Given the description of an element on the screen output the (x, y) to click on. 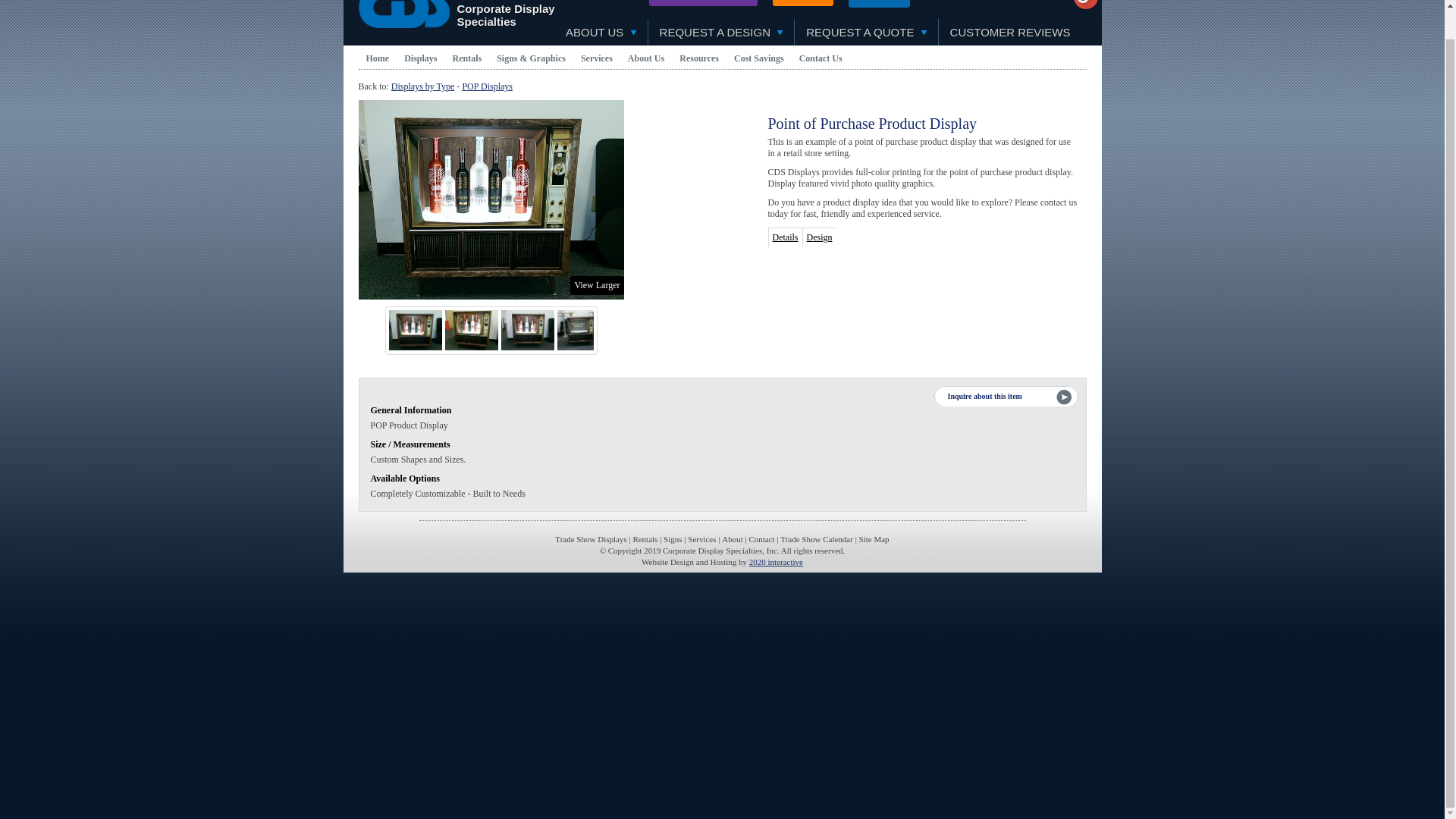
Displays (420, 58)
Home (377, 58)
RENTALS (802, 2)
CUSTOMER REVIEWS (1010, 31)
SEARCH DISPLAYS (703, 2)
COVID 19 (879, 3)
Product Point of Purchase-POP Display (490, 199)
REQUEST A DESIGN (720, 31)
REQUEST A QUOTE (865, 31)
ABOUT US (600, 31)
